Given the description of an element on the screen output the (x, y) to click on. 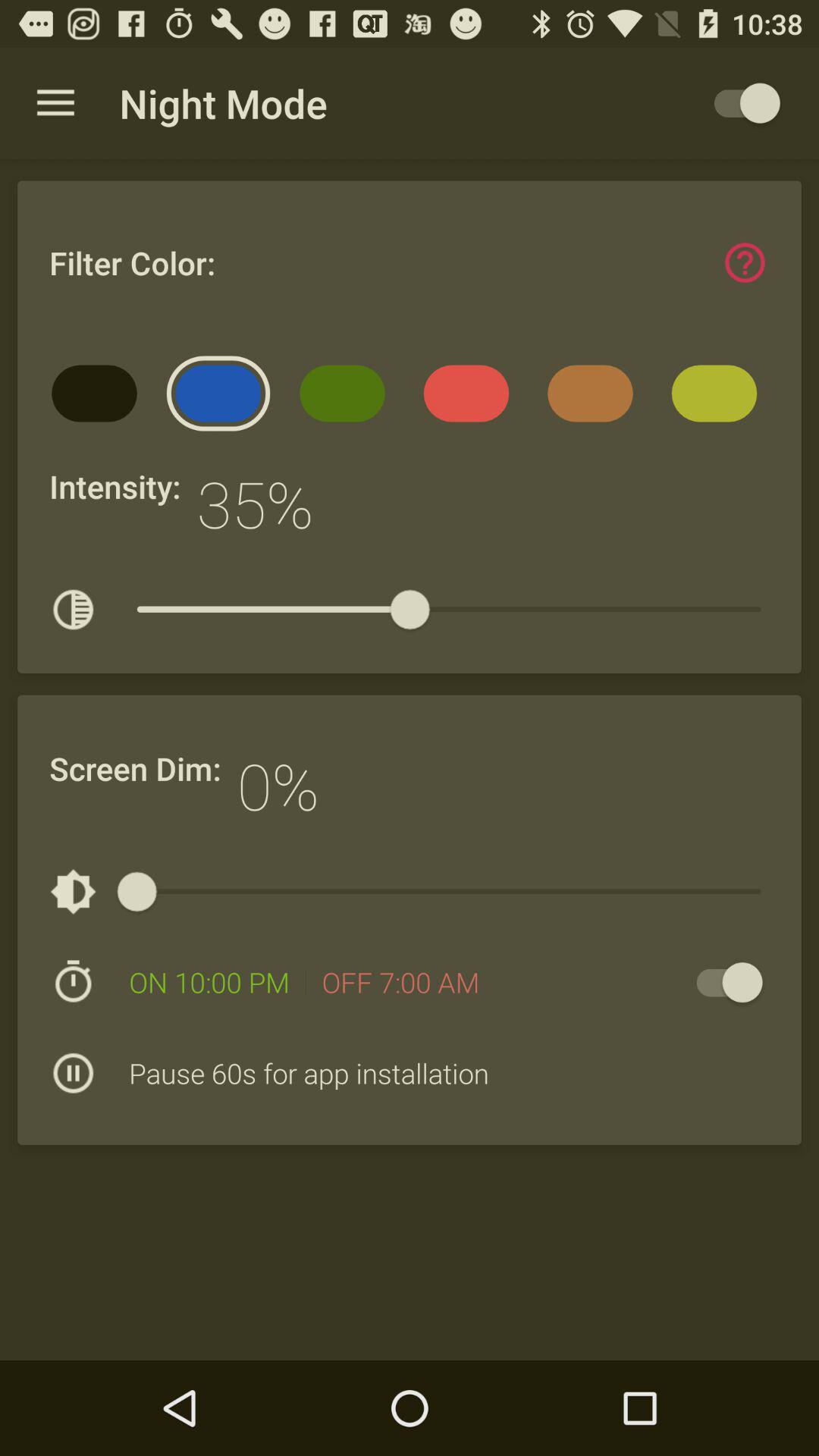
swipe until the on 10 00 item (209, 982)
